Given the description of an element on the screen output the (x, y) to click on. 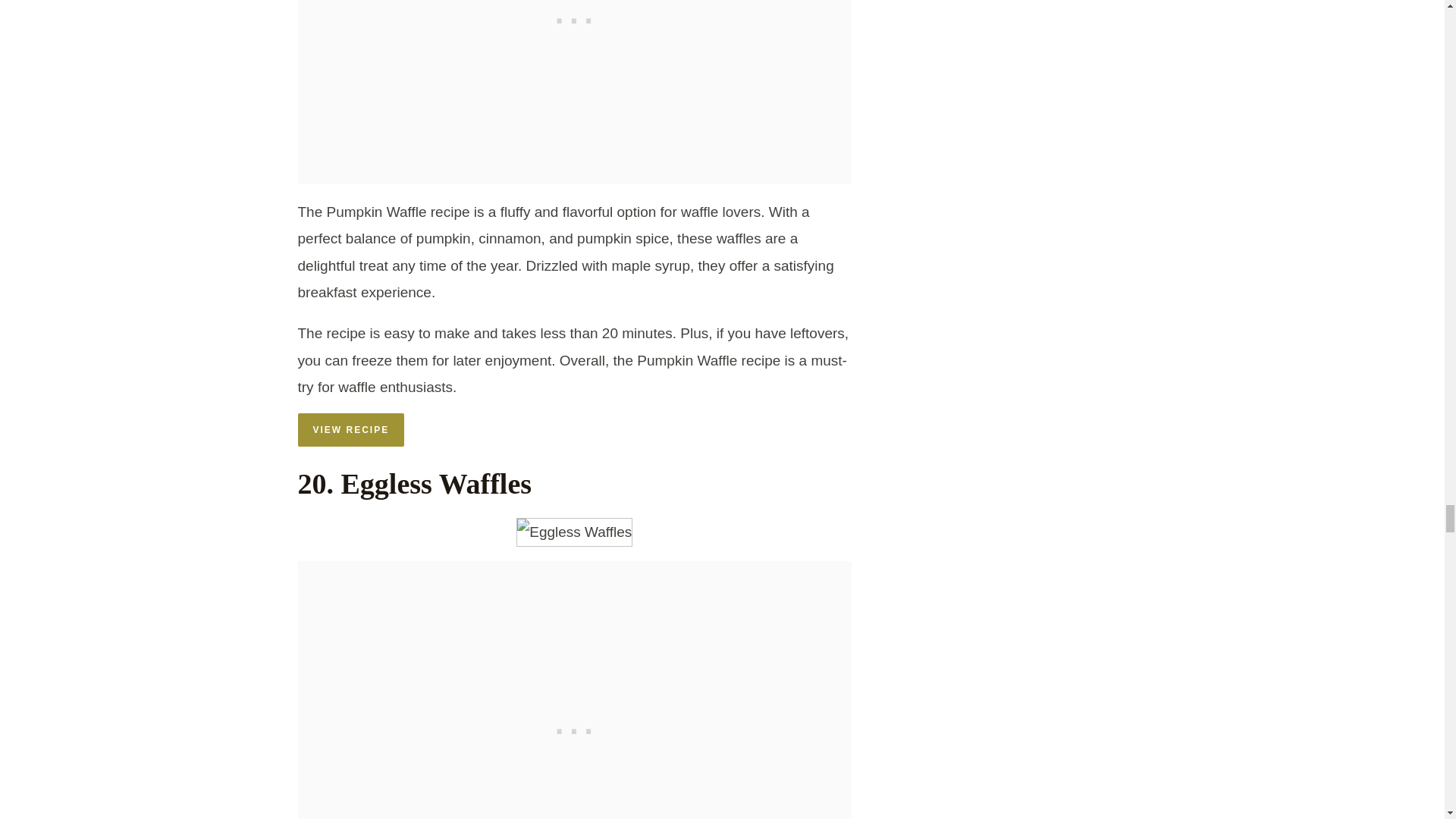
VIEW RECIPE (350, 429)
